Given the description of an element on the screen output the (x, y) to click on. 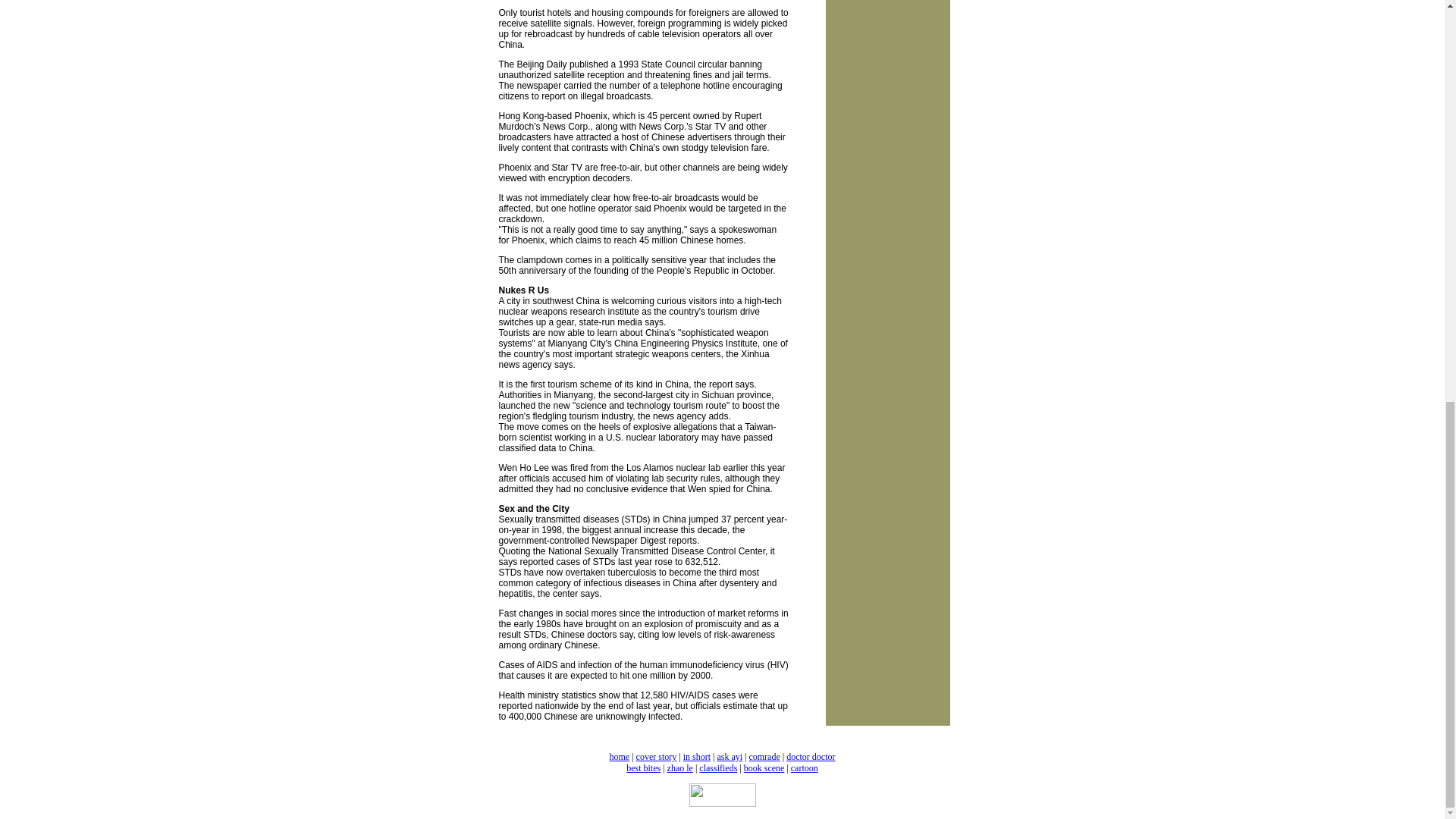
cartoon (804, 767)
zhao le (679, 767)
home (620, 756)
ask ayi (729, 756)
in short (696, 756)
cover story (656, 756)
doctor doctor (810, 756)
best bites (643, 767)
comrade (763, 756)
book scene (764, 767)
classifieds (717, 767)
